Given the description of an element on the screen output the (x, y) to click on. 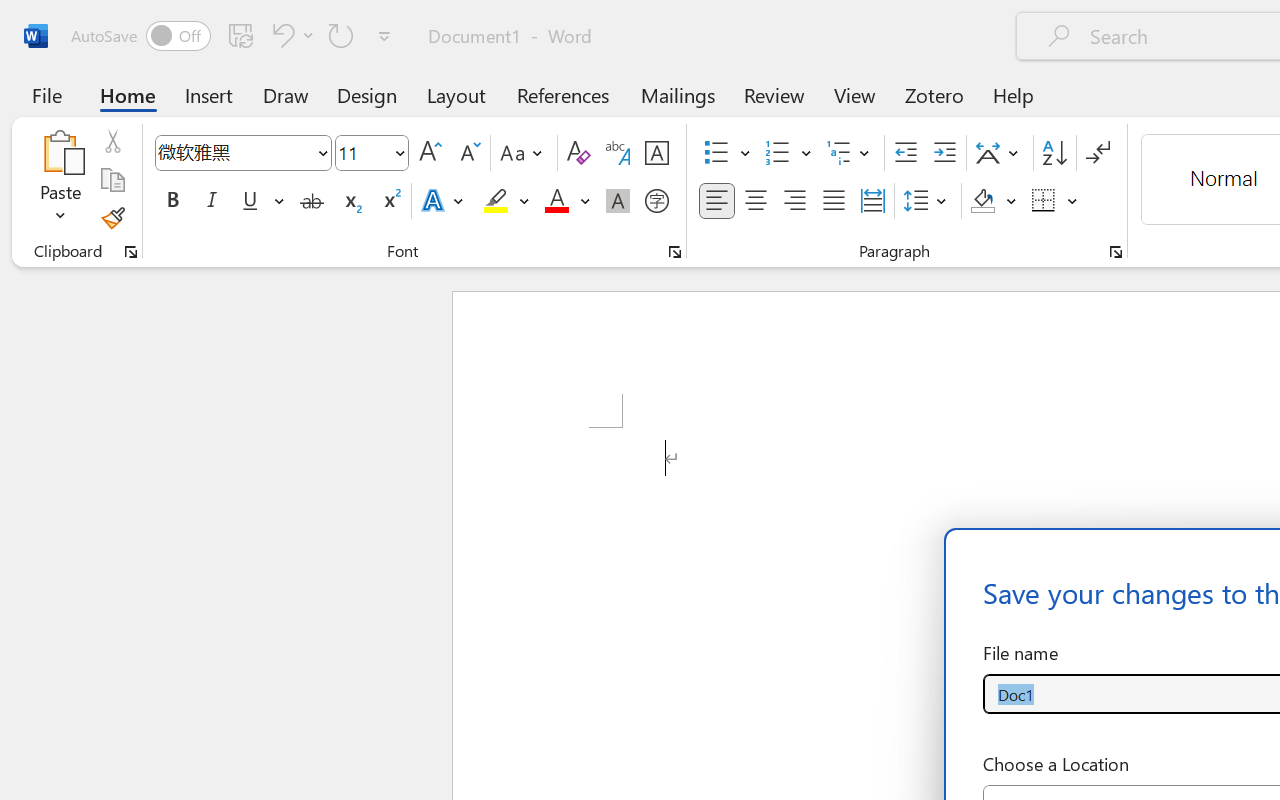
Repeat Style (341, 35)
Undo <ApplyStyleToDoc>b__0 (280, 35)
